Given the description of an element on the screen output the (x, y) to click on. 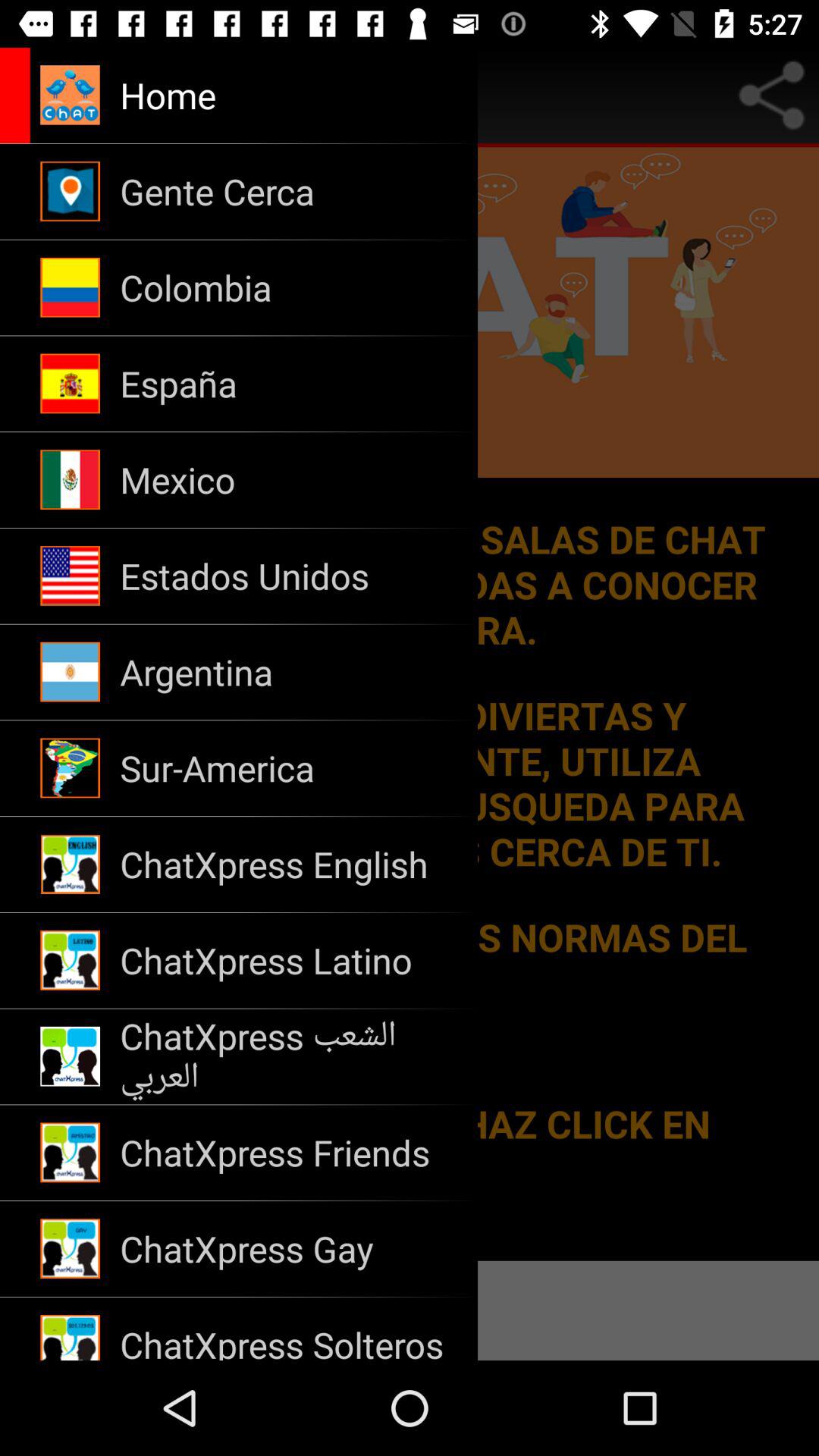
choose the app below mexico icon (288, 575)
